Given the description of an element on the screen output the (x, y) to click on. 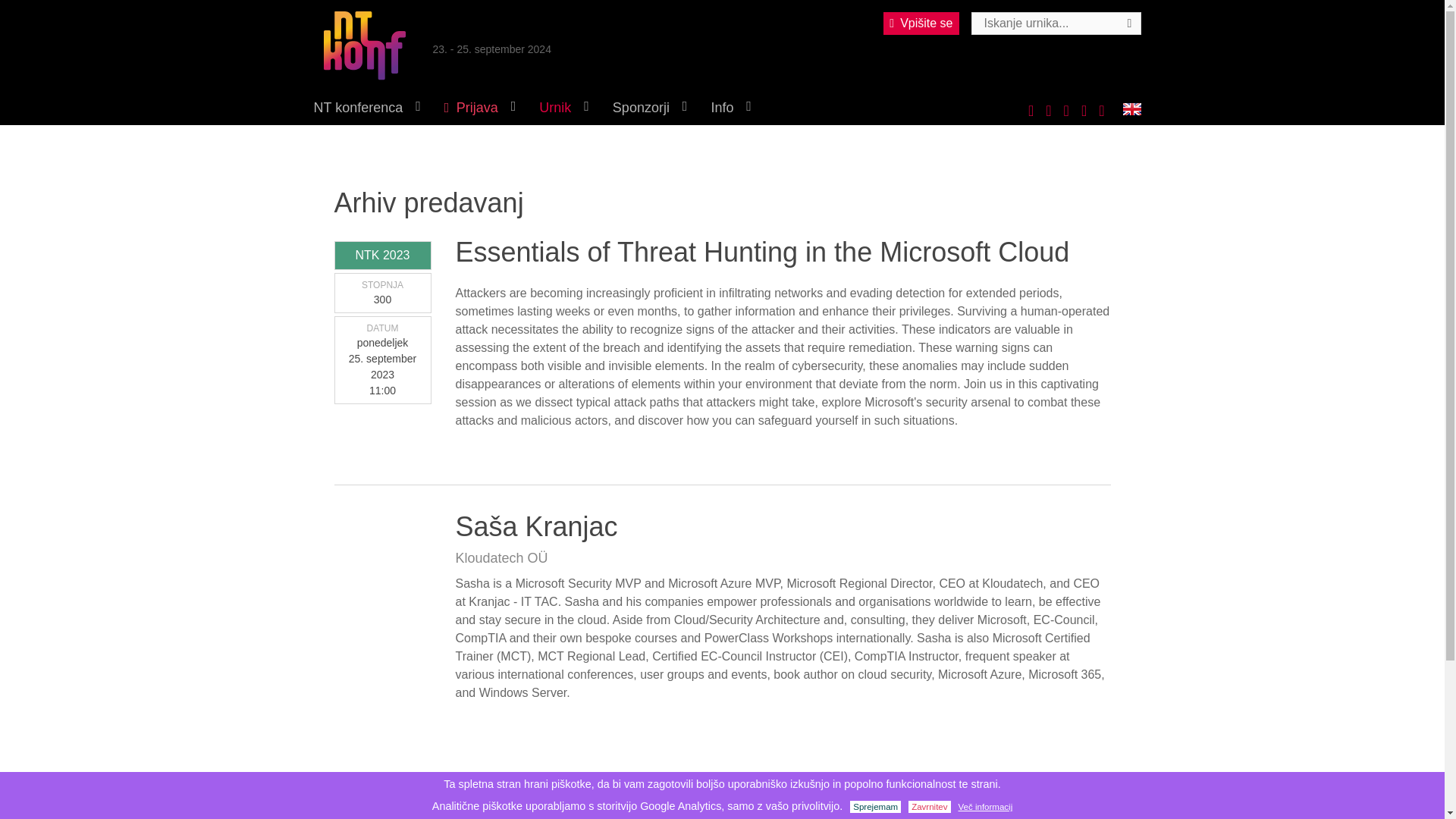
NT konferenca (363, 45)
Sprejemam (875, 806)
NT konferenca (364, 107)
Prijava (477, 107)
Urnik (562, 107)
Sponzorji (648, 107)
NT konferenca (363, 45)
Zavrnitev (929, 806)
Info (729, 107)
